Given the description of an element on the screen output the (x, y) to click on. 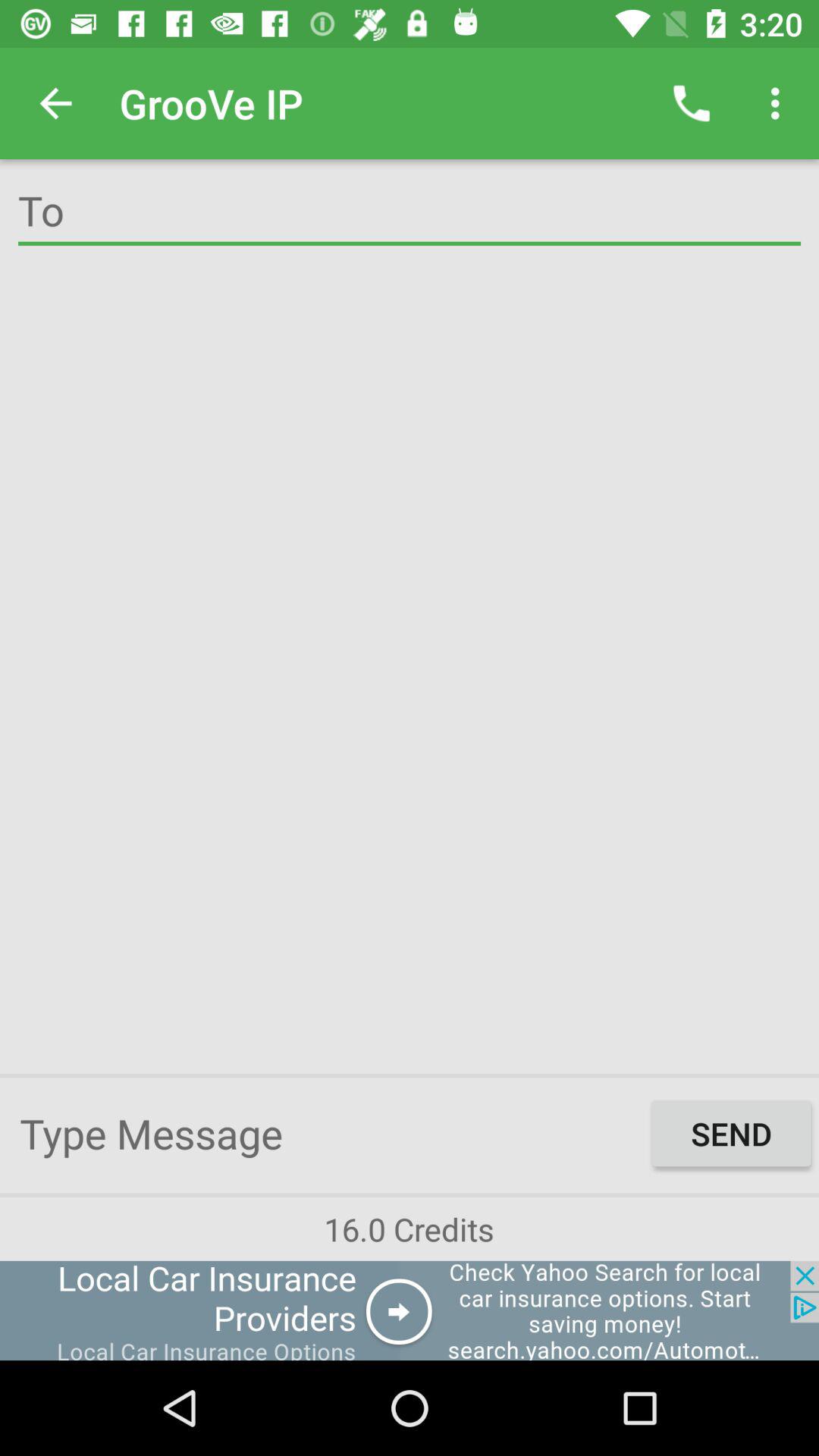
open text box (331, 1133)
